Given the description of an element on the screen output the (x, y) to click on. 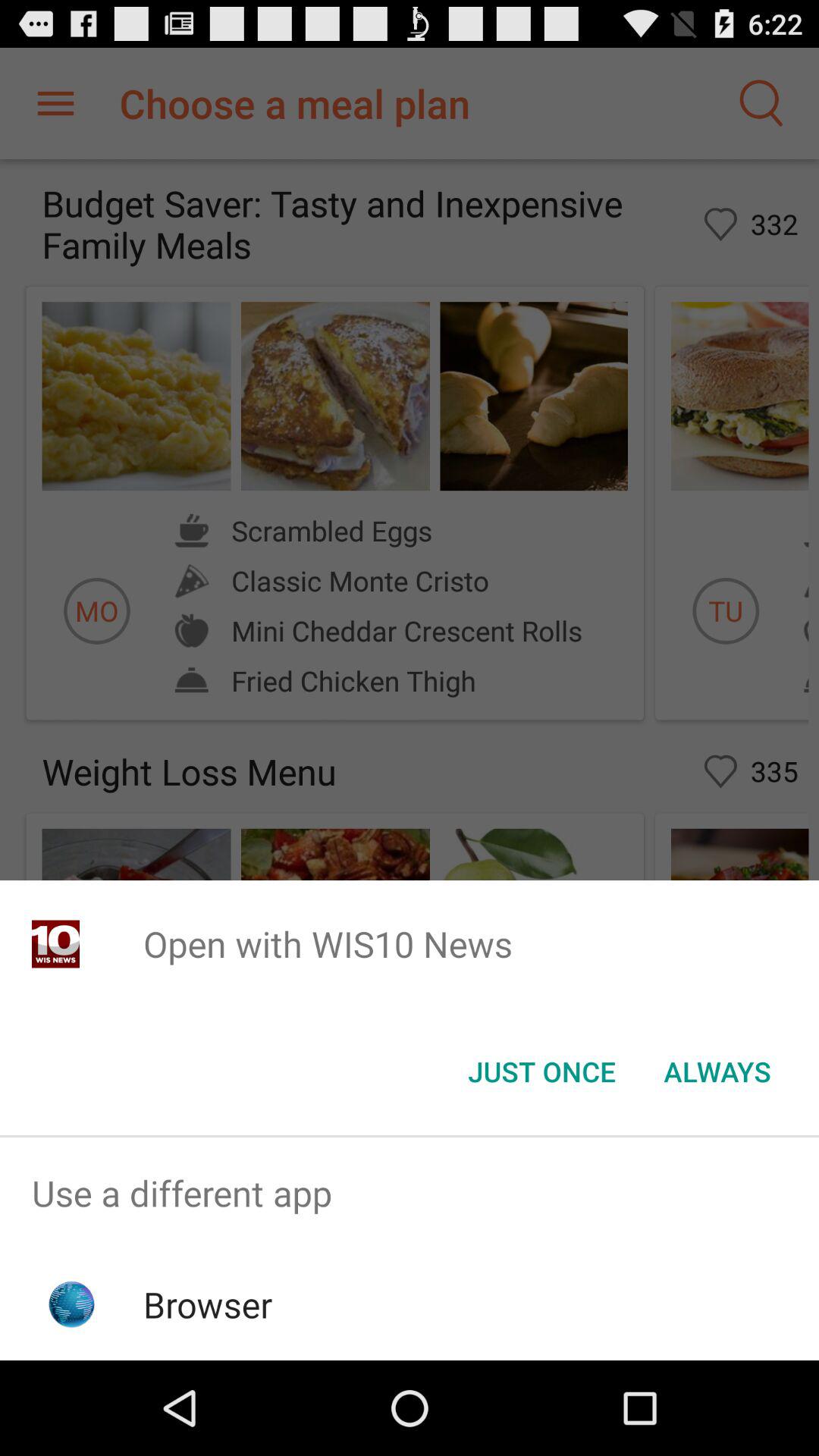
tap the item next to just once button (717, 1071)
